Given the description of an element on the screen output the (x, y) to click on. 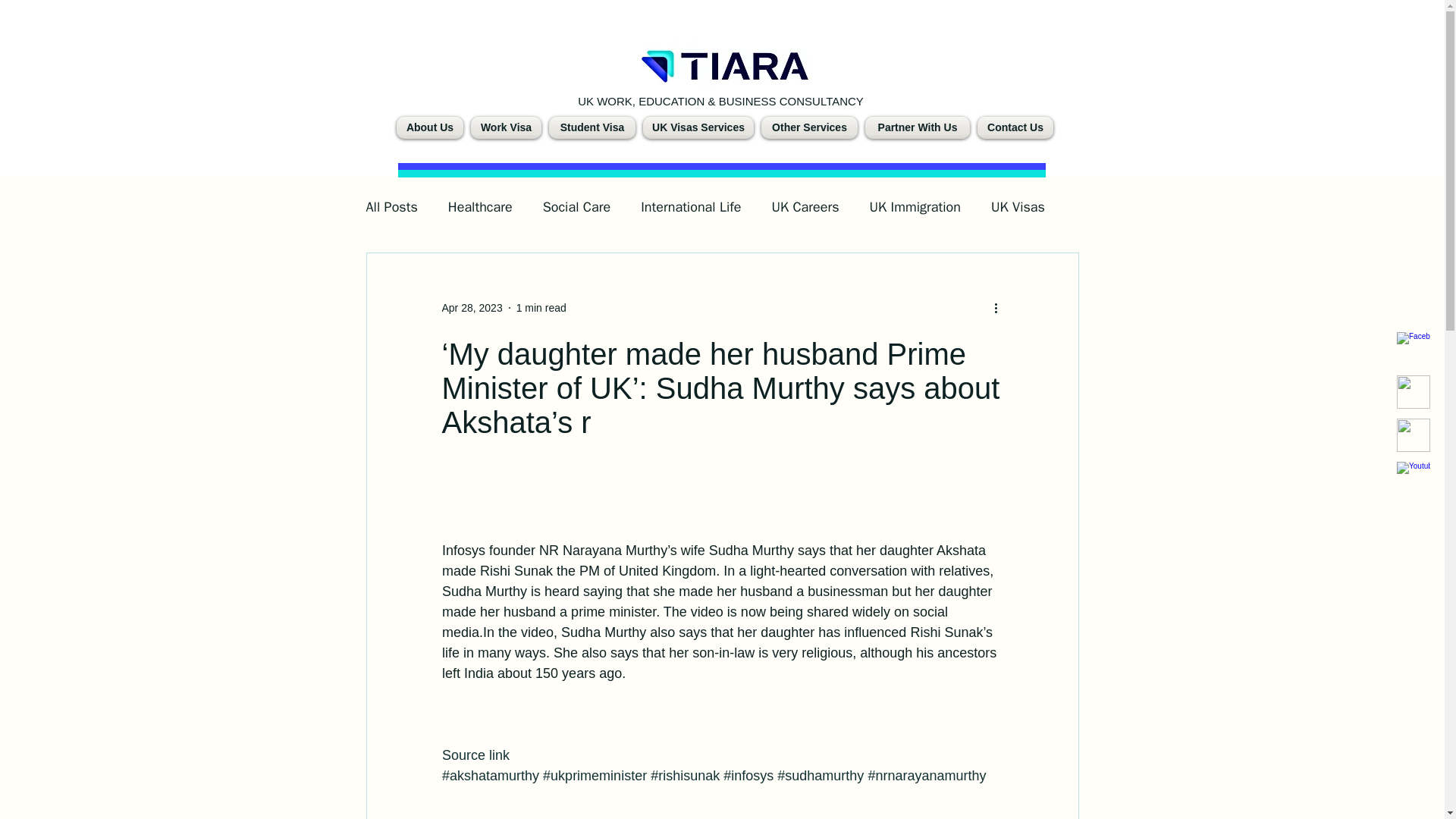
Student Visa (591, 127)
Work Visa (505, 127)
Apr 28, 2023 (471, 307)
1 min read (541, 307)
